Given the description of an element on the screen output the (x, y) to click on. 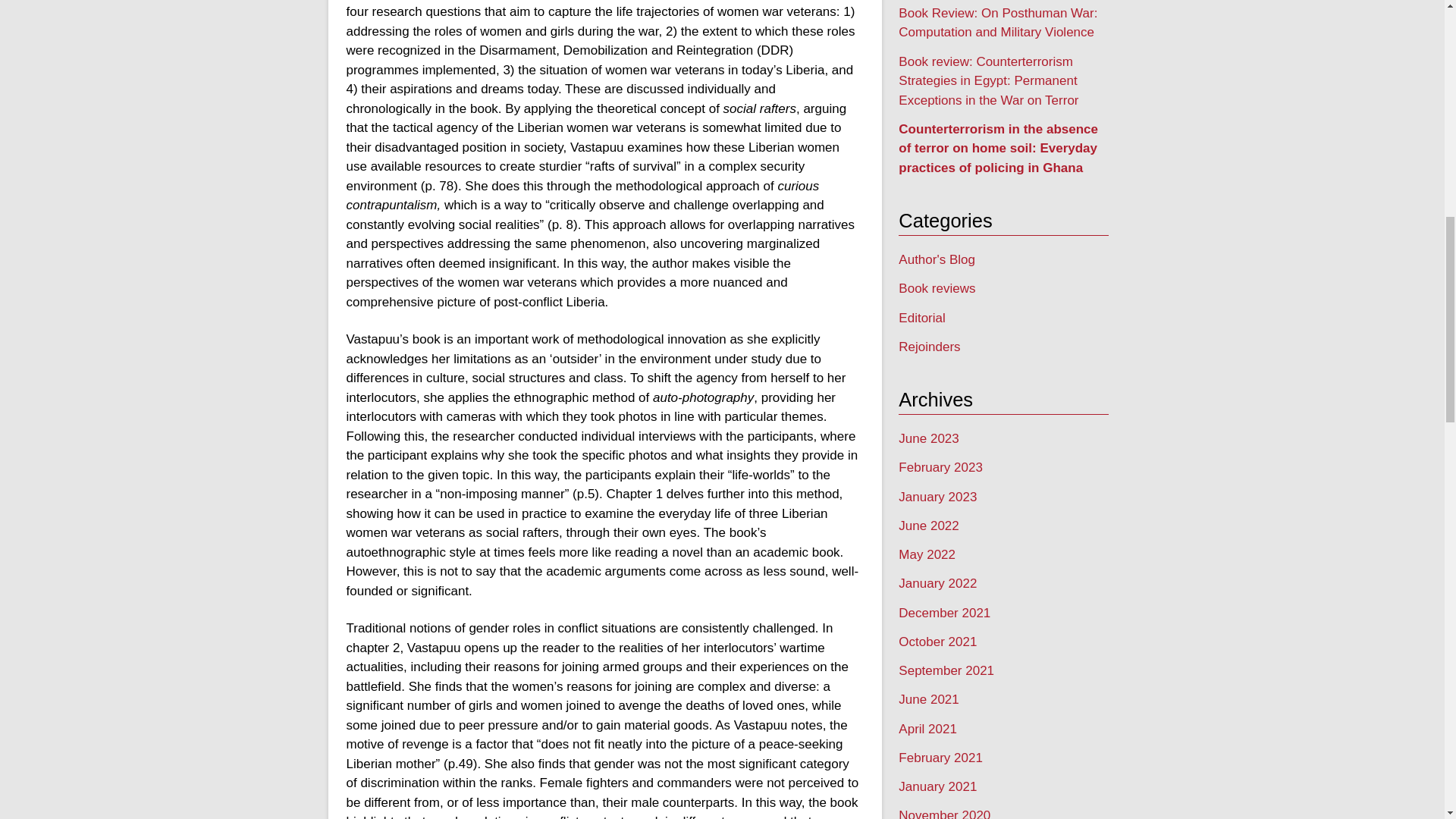
Author's Blog (936, 259)
